Given the description of an element on the screen output the (x, y) to click on. 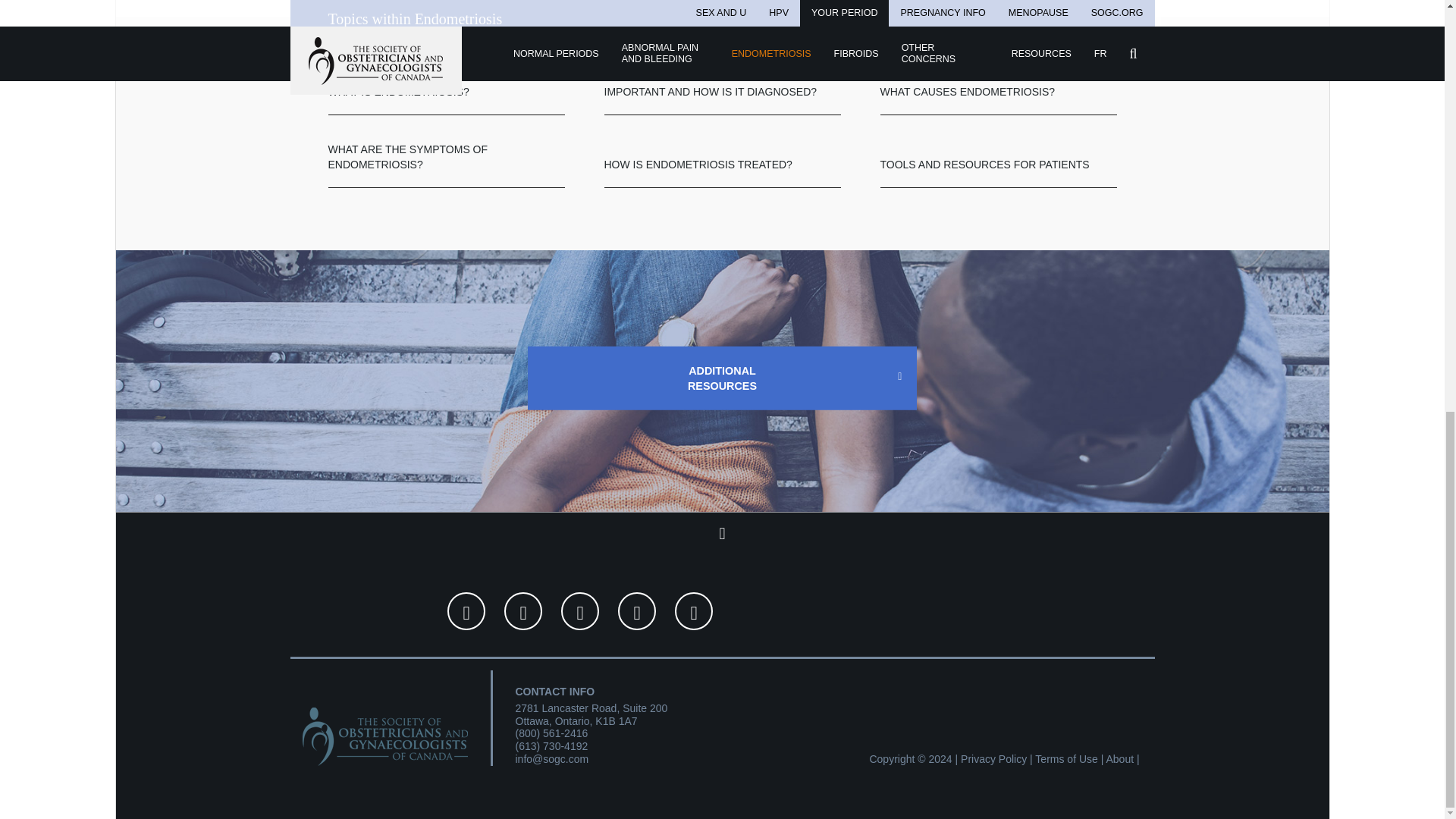
Visit our Facebook page  (579, 610)
Back to top (722, 533)
Phone (551, 733)
Email (552, 758)
Back to top (722, 533)
Print this page (522, 610)
Follow us on Twitter (636, 610)
SOGC (384, 728)
Watch our Youtube Channel (694, 610)
Phone (551, 746)
